Given the description of an element on the screen output the (x, y) to click on. 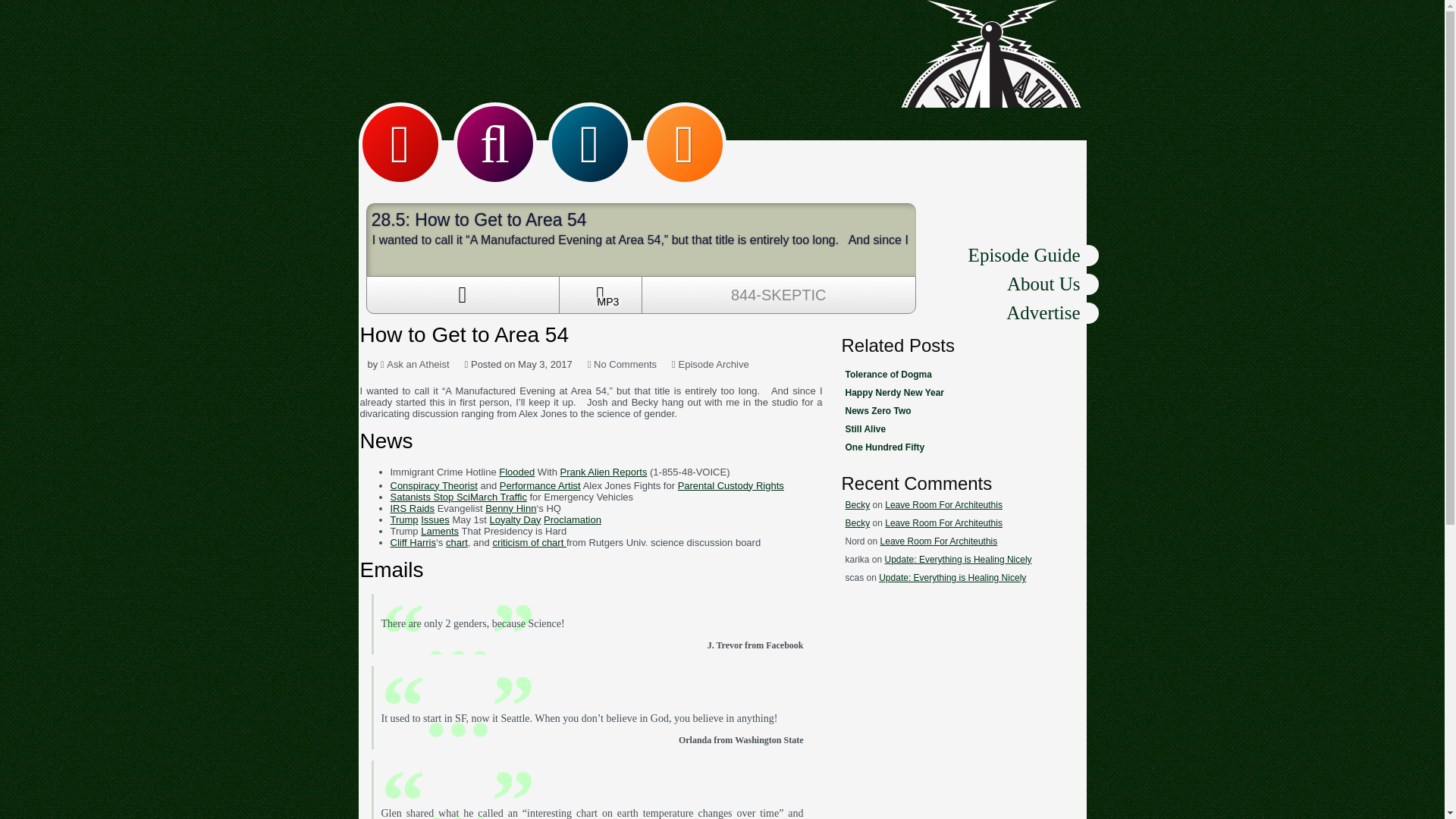
 Ask an Atheist (414, 364)
Episode Guide (1014, 255)
Add Our RSS Feed (684, 143)
Benny Hinn (509, 507)
Flooded (516, 471)
chart (456, 542)
Search the Site (494, 143)
Issues (434, 519)
Loyalty Day (515, 519)
Episode Archive (713, 364)
